Given the description of an element on the screen output the (x, y) to click on. 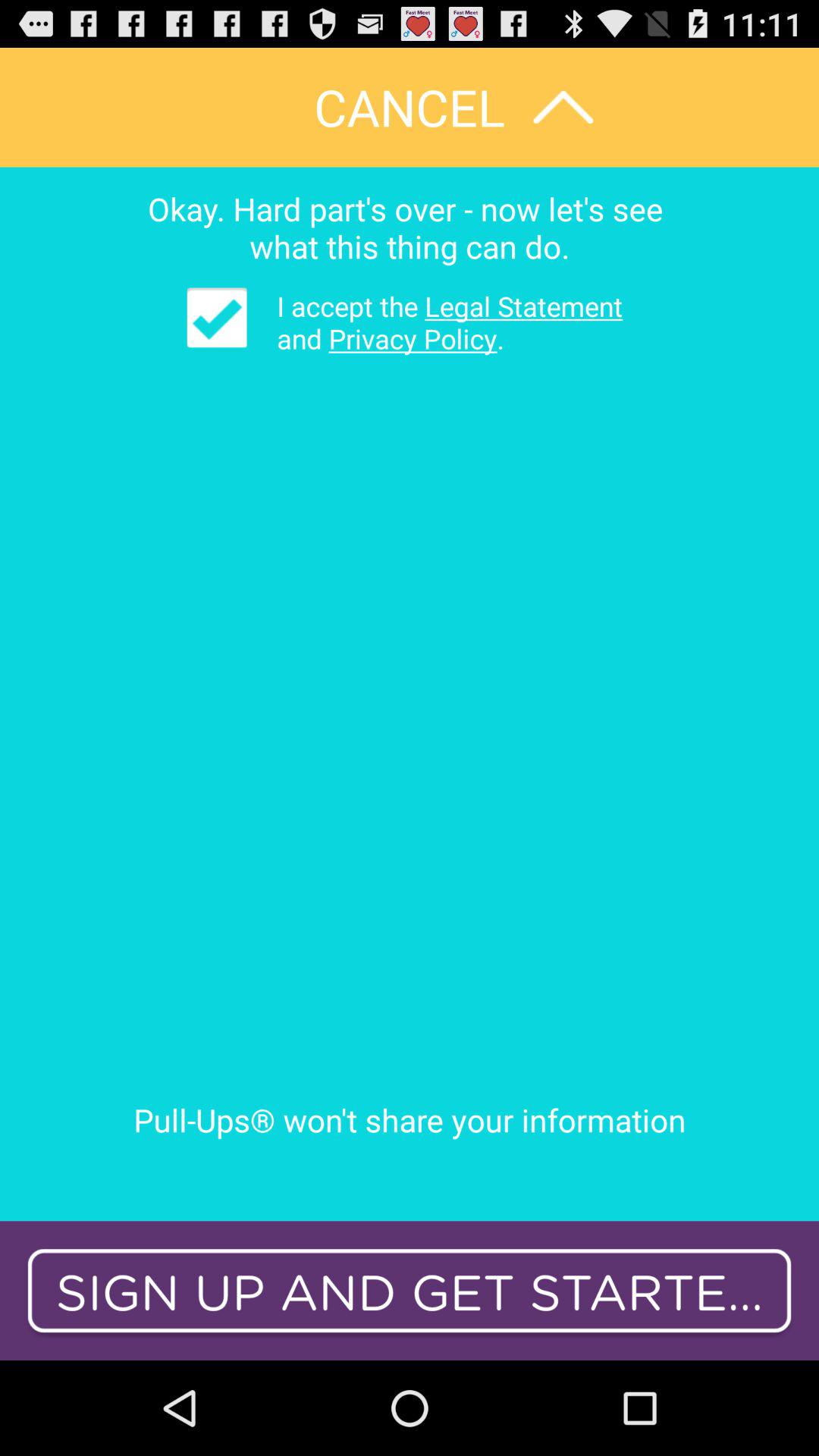
cancel (409, 107)
